Given the description of an element on the screen output the (x, y) to click on. 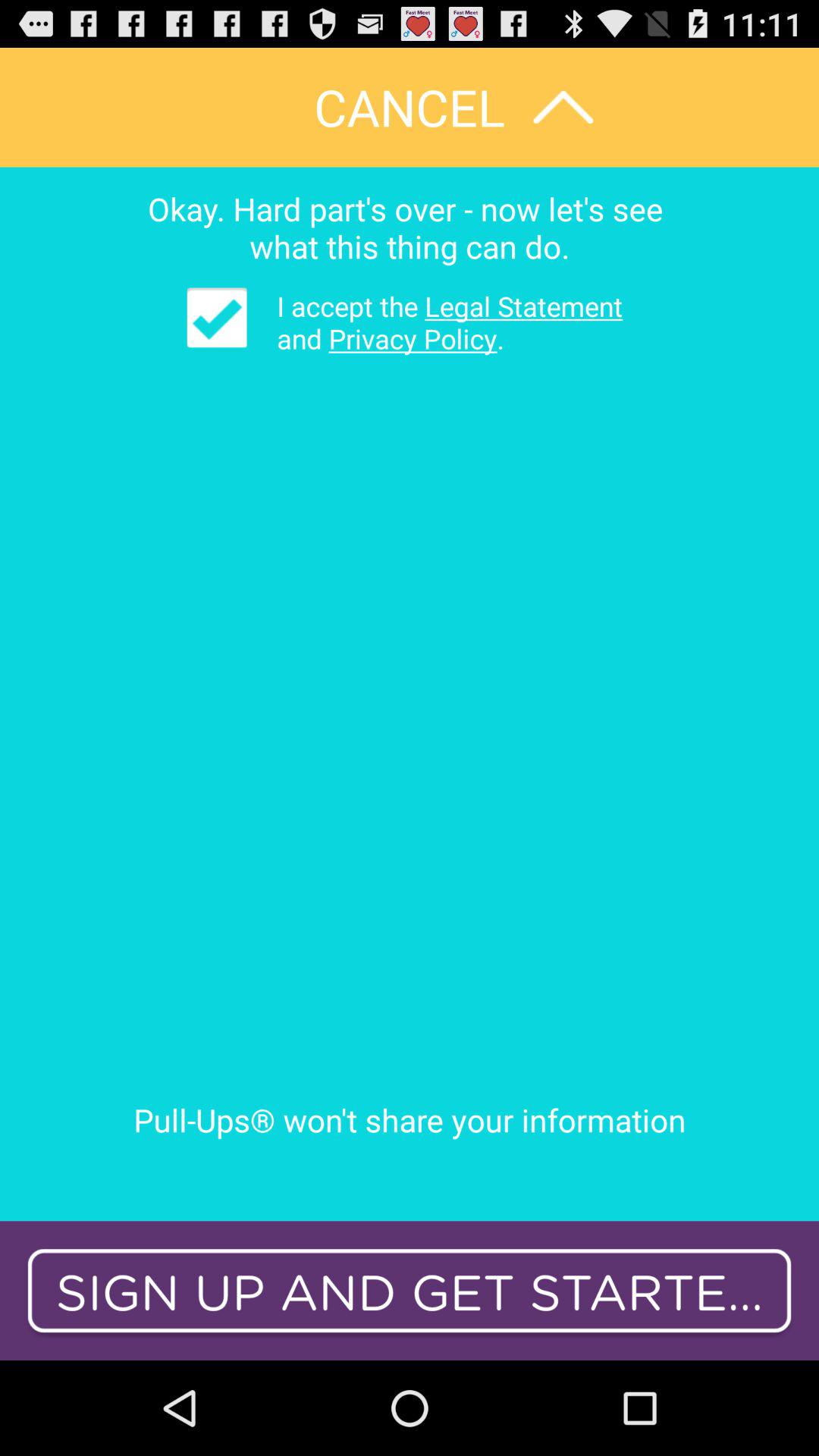
cancel (409, 107)
